Given the description of an element on the screen output the (x, y) to click on. 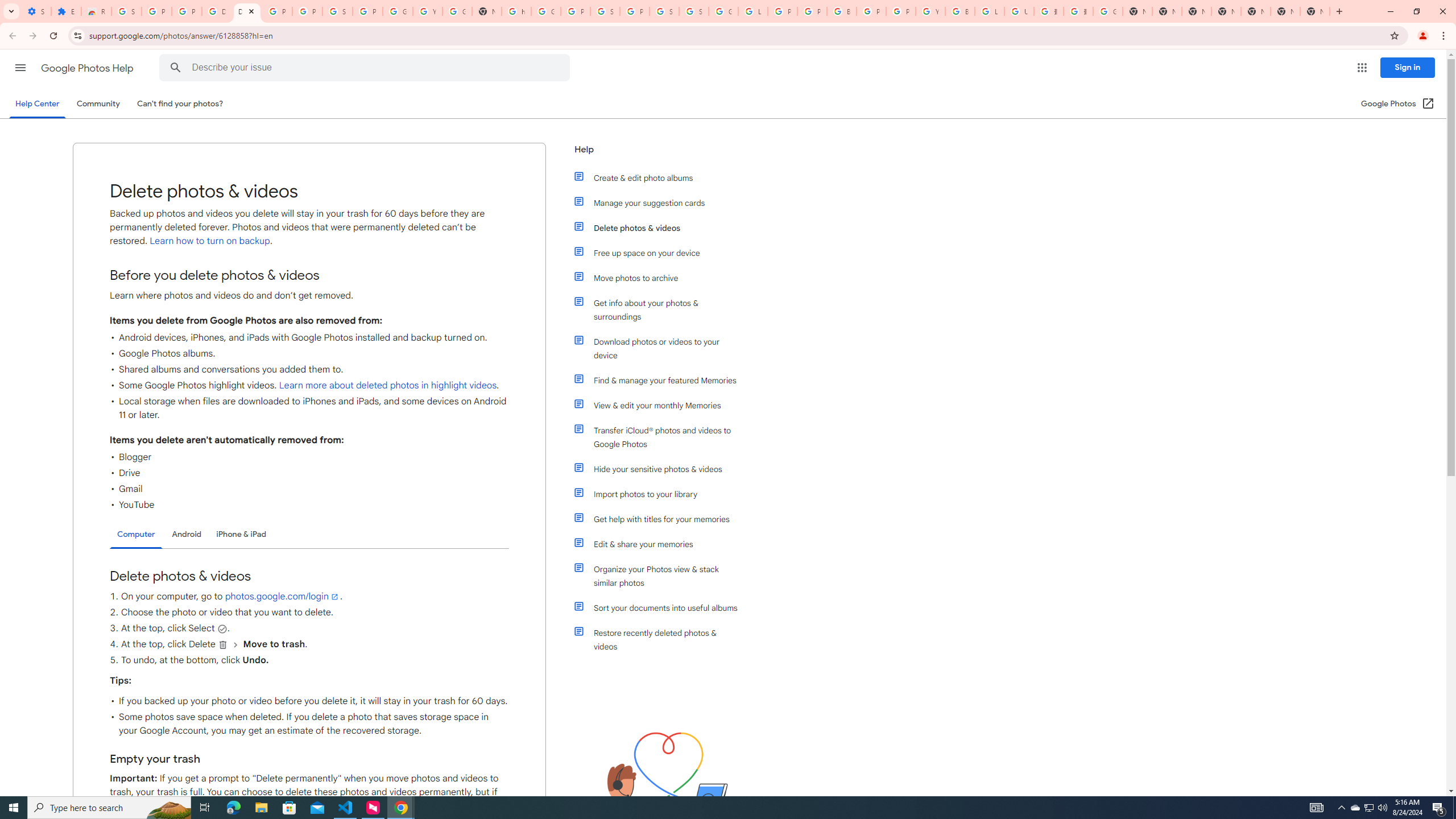
Privacy Help Center - Policies Help (811, 11)
Google Images (1107, 11)
